Given the description of an element on the screen output the (x, y) to click on. 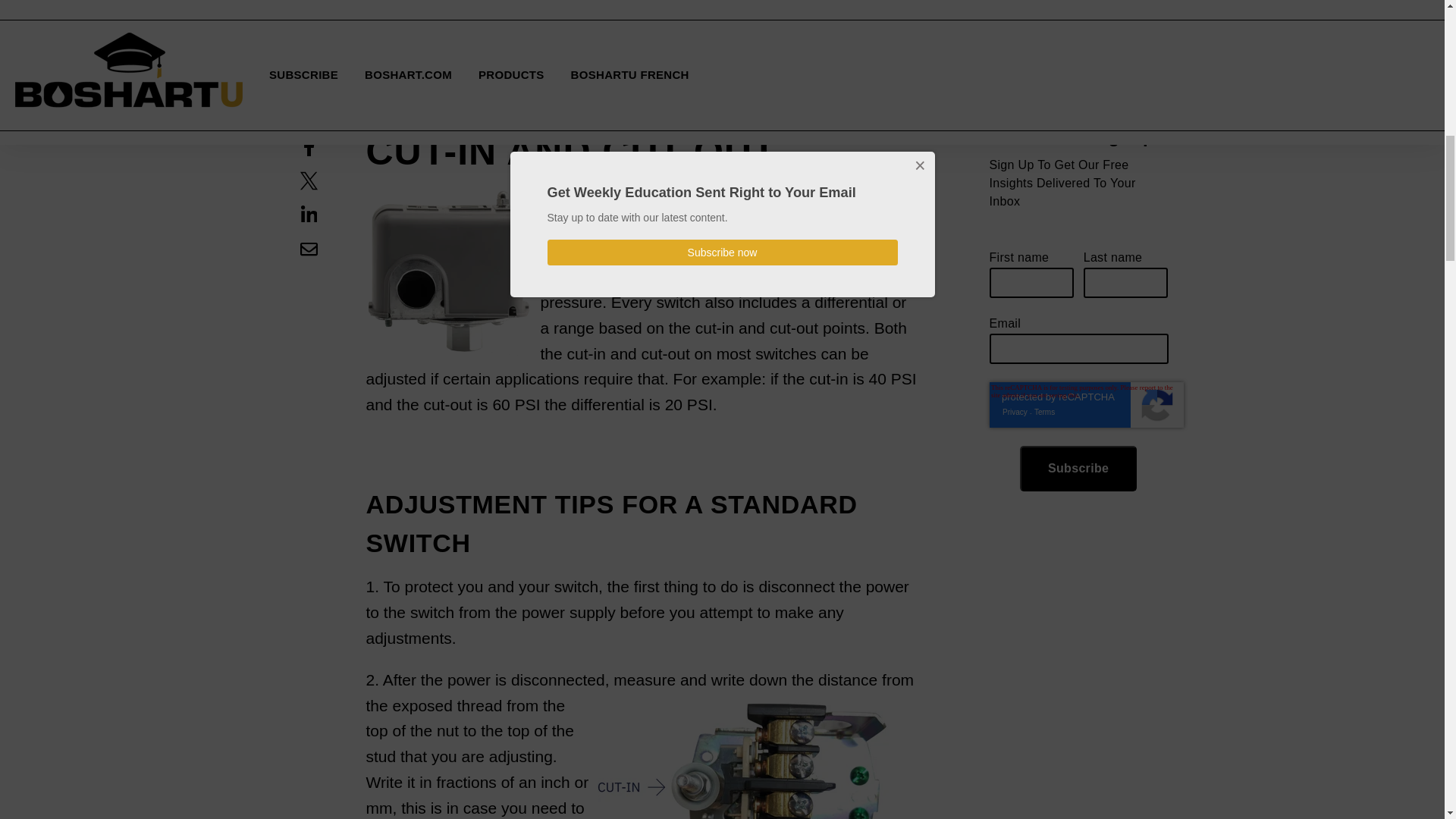
reCAPTCHA (1085, 63)
Subscribe (1078, 127)
Subscribe (1078, 127)
